Given the description of an element on the screen output the (x, y) to click on. 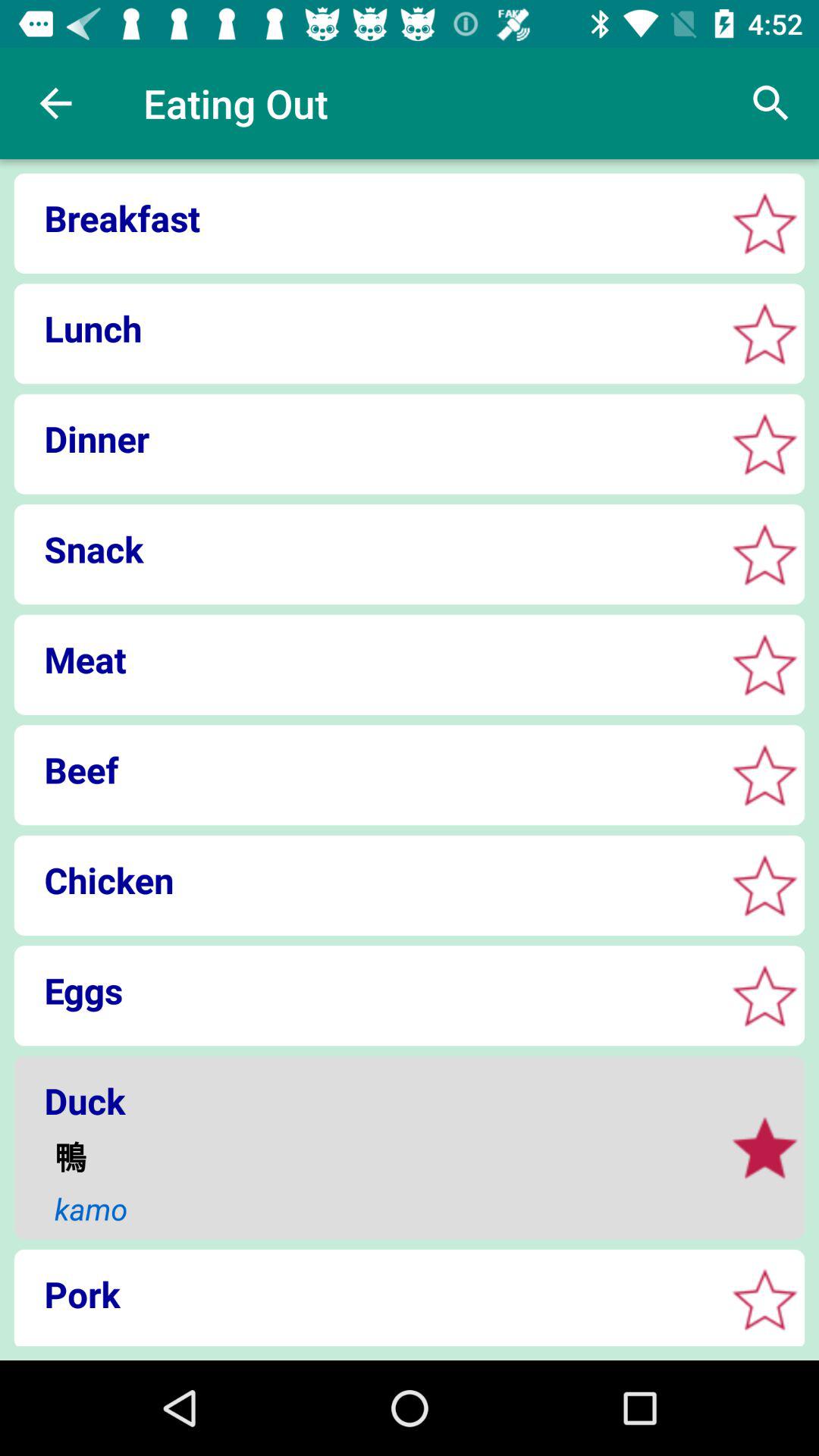
turn off the icon above the breakfast (55, 103)
